Given the description of an element on the screen output the (x, y) to click on. 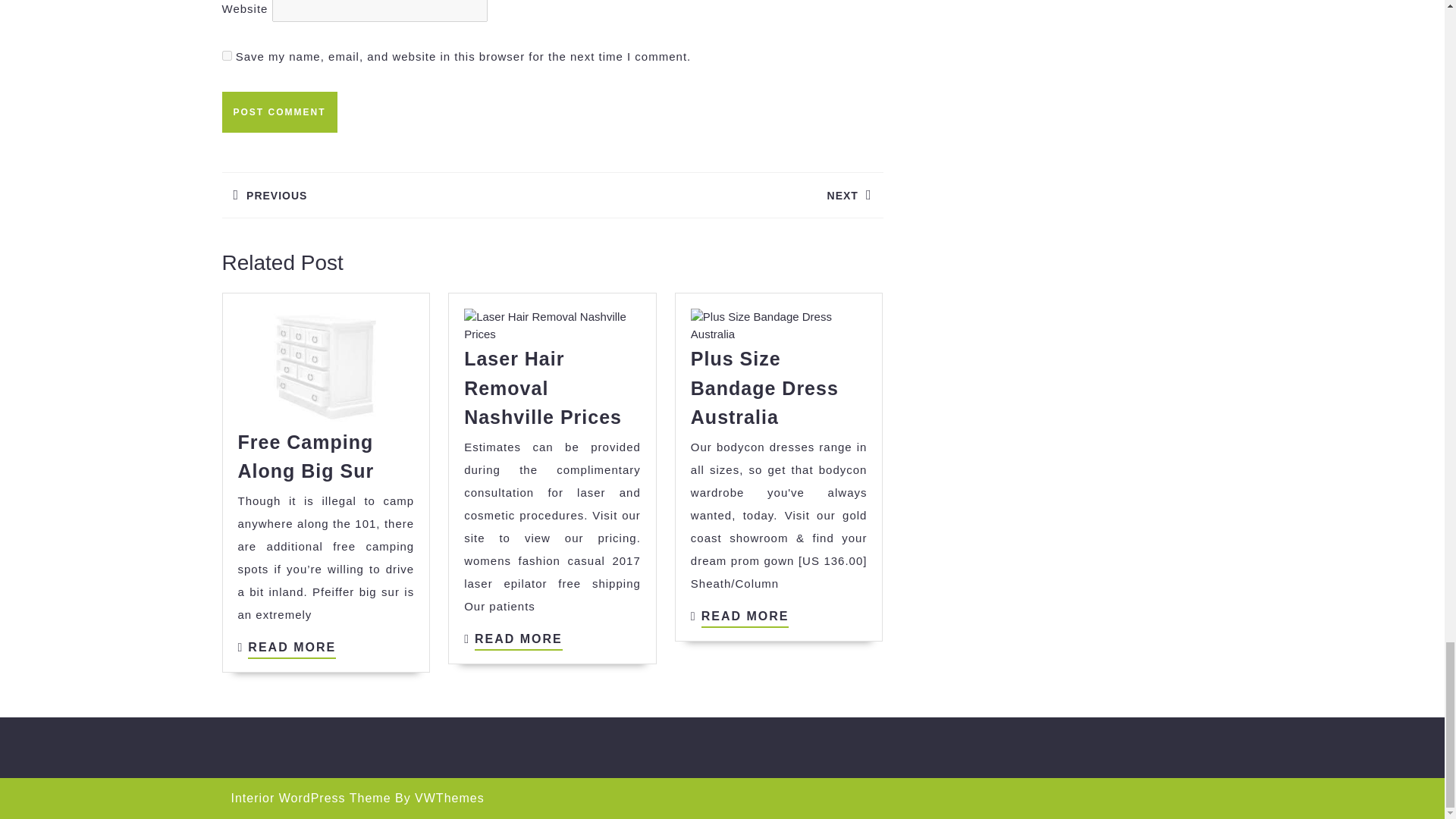
Post Comment (291, 649)
Plus Size Bandage Dress Australia (716, 195)
Laser Hair Removal Nashville Prices (278, 111)
Post Comment (778, 325)
yes (552, 325)
